Given the description of an element on the screen output the (x, y) to click on. 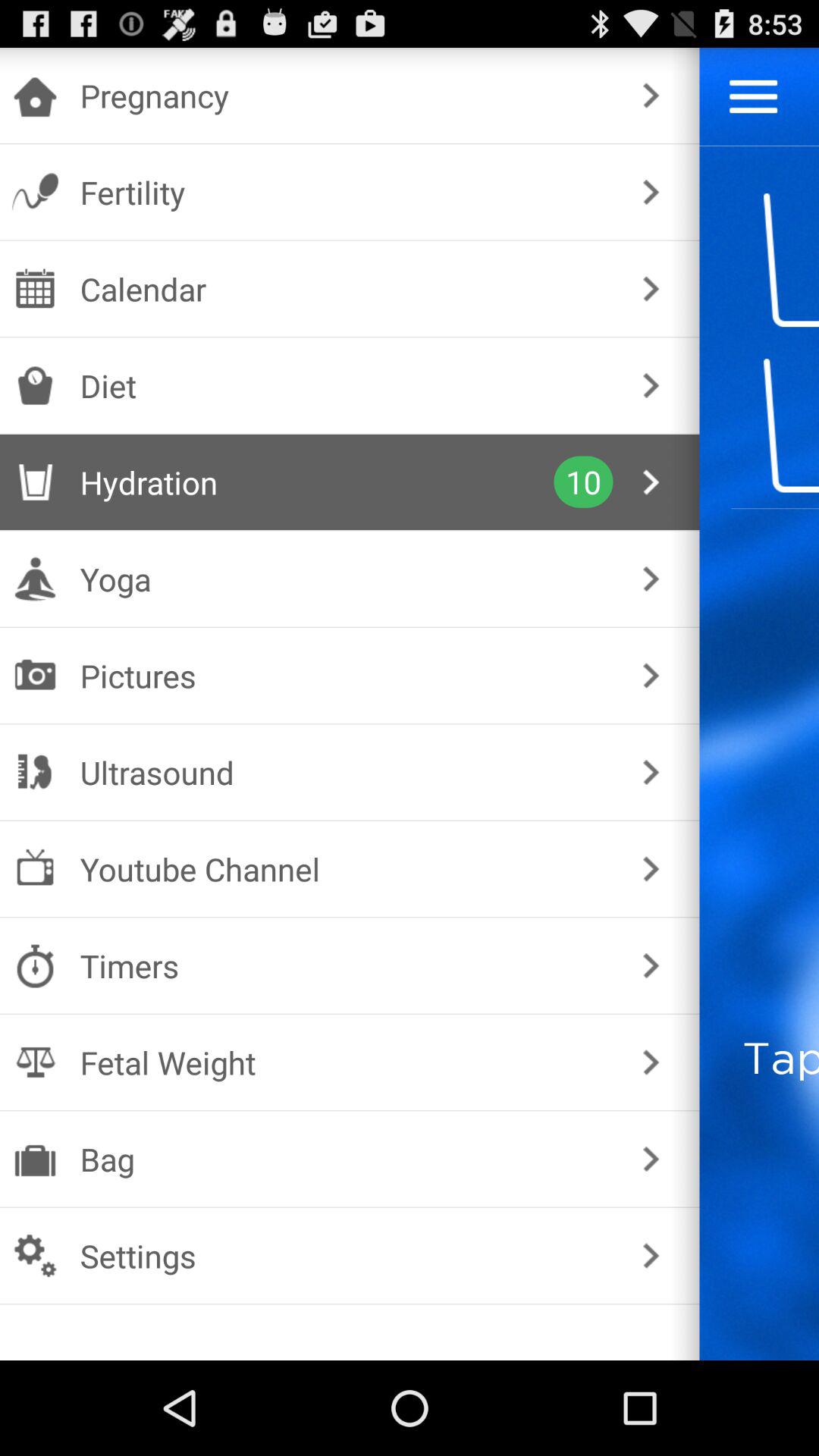
menu (753, 96)
